Given the description of an element on the screen output the (x, y) to click on. 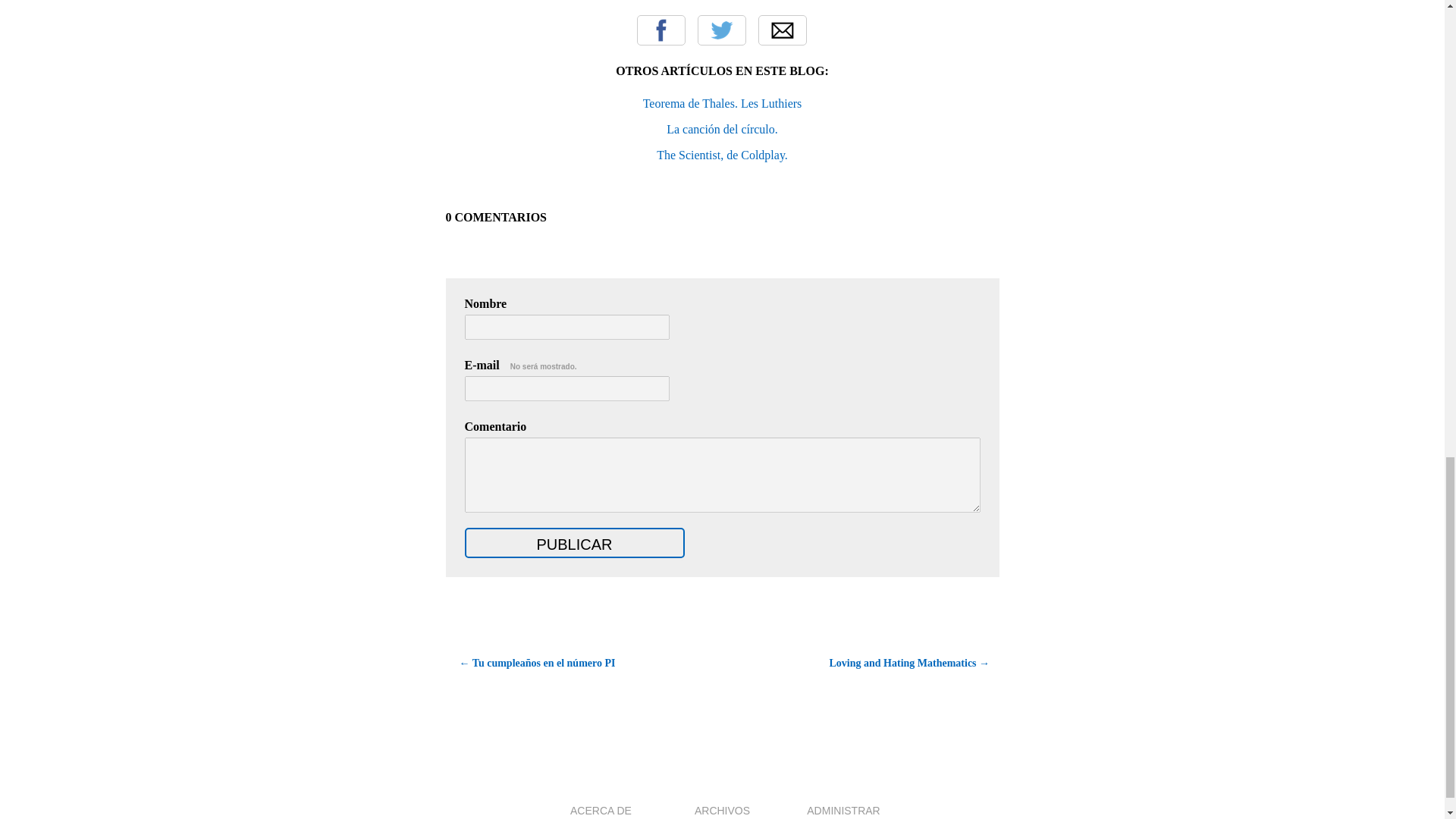
Compartir por email (782, 30)
The Scientist, de Coldplay. (721, 154)
ACERCA DE (600, 810)
Compartir en Facebook (661, 30)
Twitter (721, 30)
Facebook (661, 30)
Publicar (574, 542)
Email (782, 30)
ADMINISTRAR (842, 810)
ARCHIVOS (721, 810)
